Given the description of an element on the screen output the (x, y) to click on. 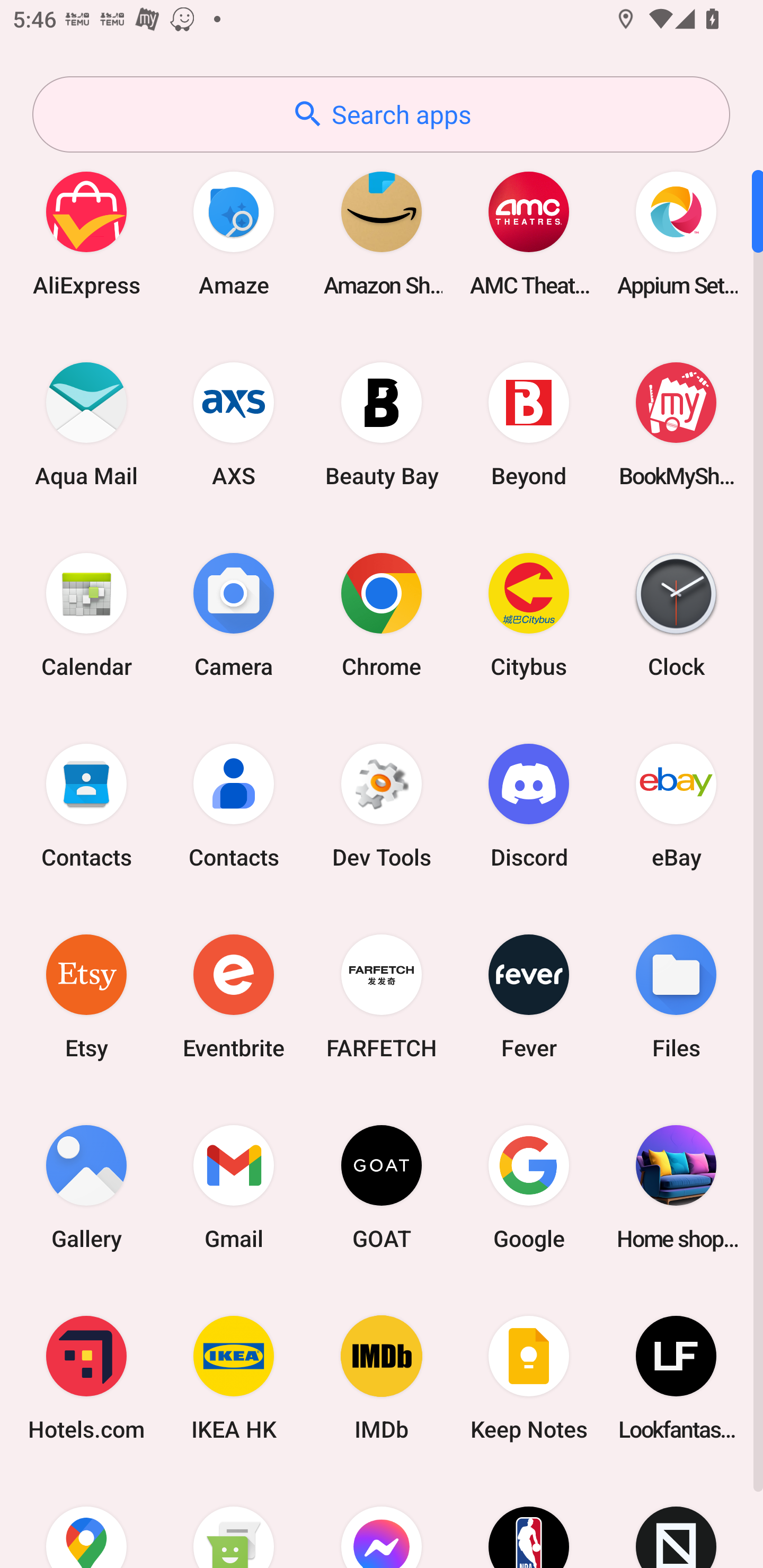
  Search apps (381, 114)
AliExpress (86, 233)
Amaze (233, 233)
Amazon Shopping (381, 233)
AMC Theatres (528, 233)
Appium Settings (676, 233)
Aqua Mail (86, 424)
AXS (233, 424)
Beauty Bay (381, 424)
Beyond (528, 424)
BookMyShow (676, 424)
Calendar (86, 614)
Camera (233, 614)
Chrome (381, 614)
Citybus (528, 614)
Clock (676, 614)
Contacts (86, 805)
Contacts (233, 805)
Dev Tools (381, 805)
Discord (528, 805)
eBay (676, 805)
Etsy (86, 996)
Eventbrite (233, 996)
FARFETCH (381, 996)
Fever (528, 996)
Files (676, 996)
Gallery (86, 1186)
Gmail (233, 1186)
GOAT (381, 1186)
Google (528, 1186)
Home shopping (676, 1186)
Hotels.com (86, 1377)
IKEA HK (233, 1377)
IMDb (381, 1377)
Keep Notes (528, 1377)
Lookfantastic (676, 1377)
Maps (86, 1520)
Messaging (233, 1520)
Messenger (381, 1520)
NBA (528, 1520)
Novelship (676, 1520)
